Given the description of an element on the screen output the (x, y) to click on. 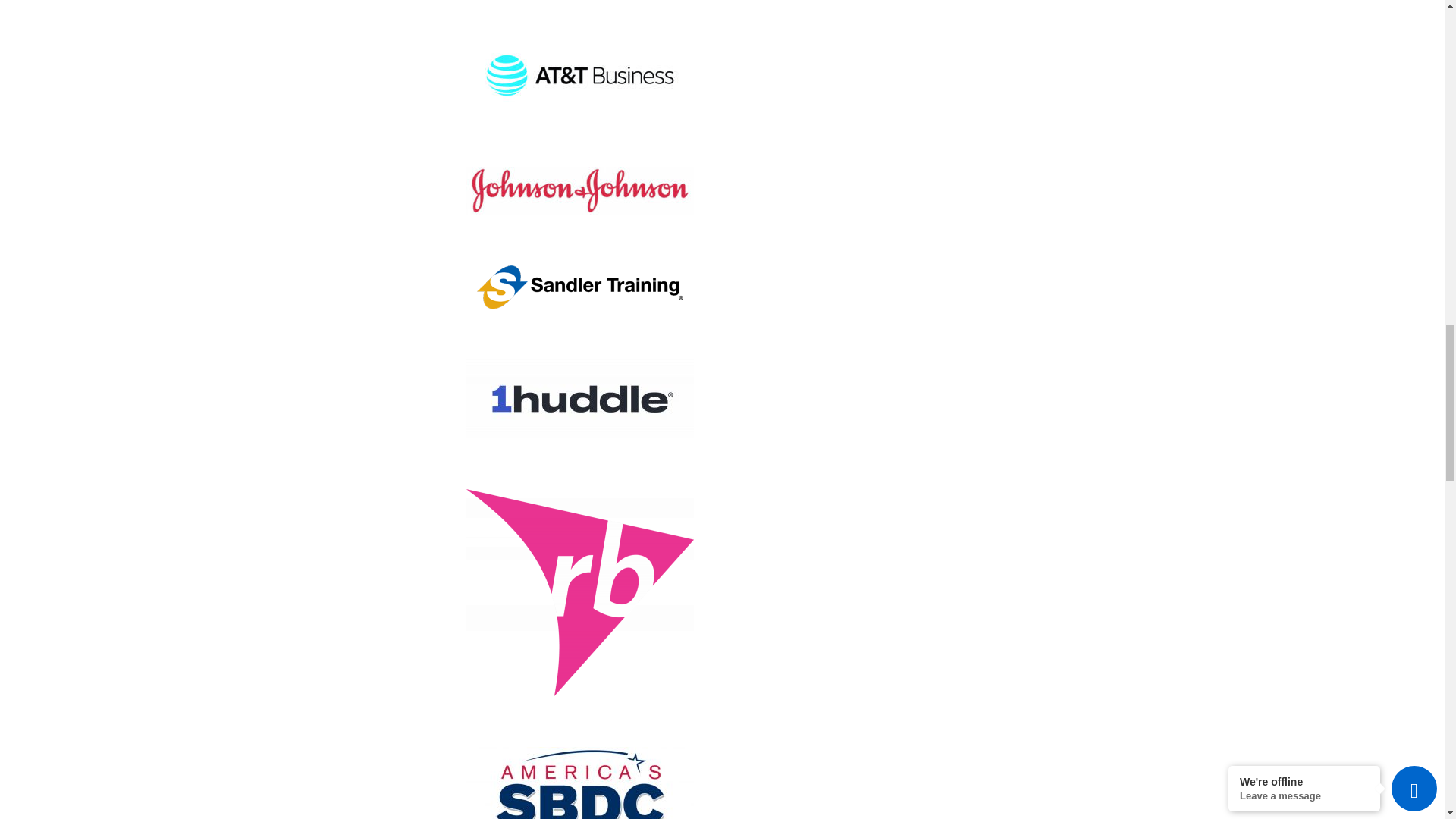
Sandler Training (579, 286)
Print (579, 75)
Johnson and Johnson Logo (579, 190)
